Given the description of an element on the screen output the (x, y) to click on. 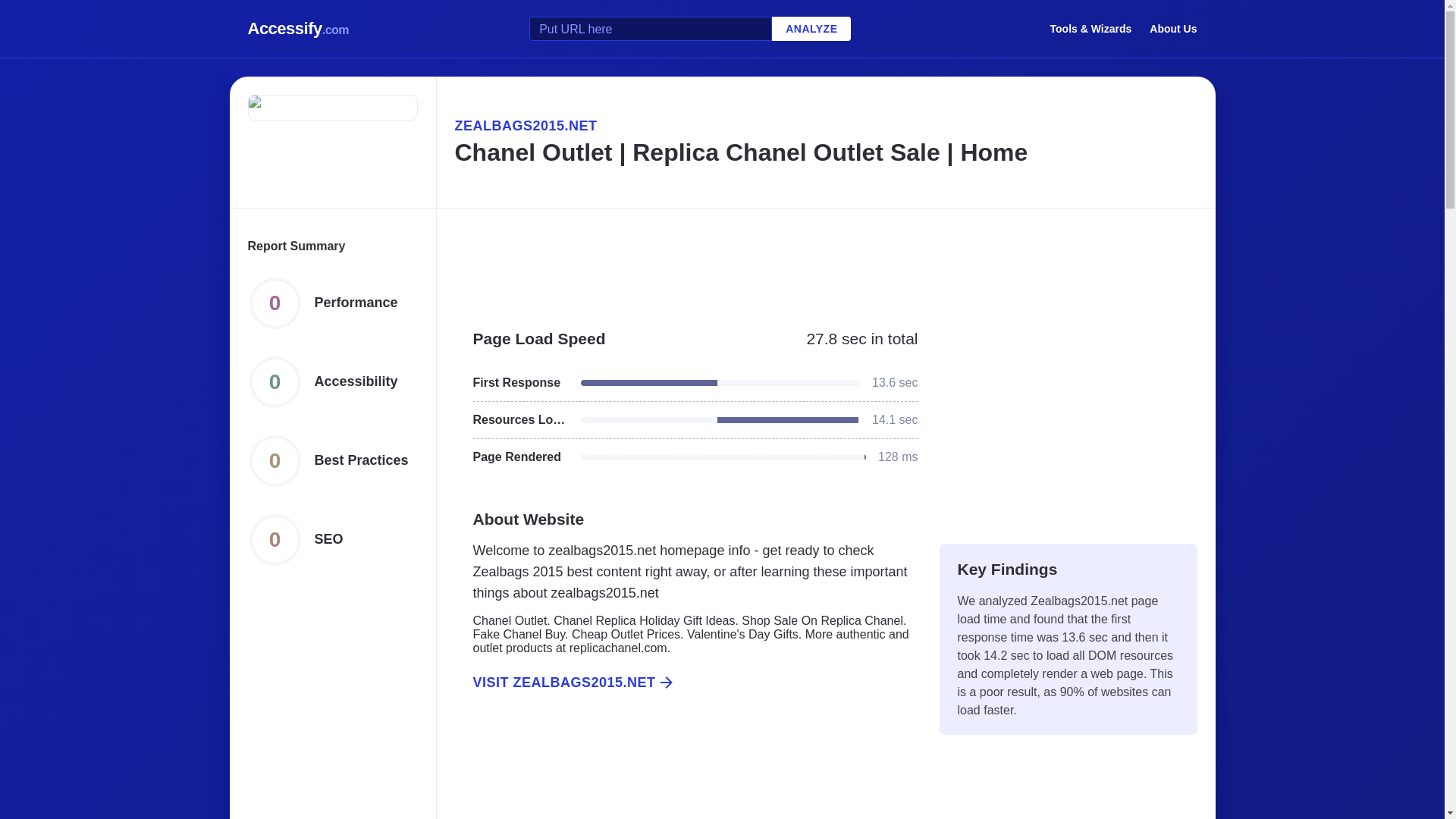
About Us (1173, 28)
VISIT ZEALBAGS2015.NET (686, 682)
Accessify.com (298, 28)
ANALYZE (810, 28)
ZEALBAGS2015.NET (825, 126)
